Given the description of an element on the screen output the (x, y) to click on. 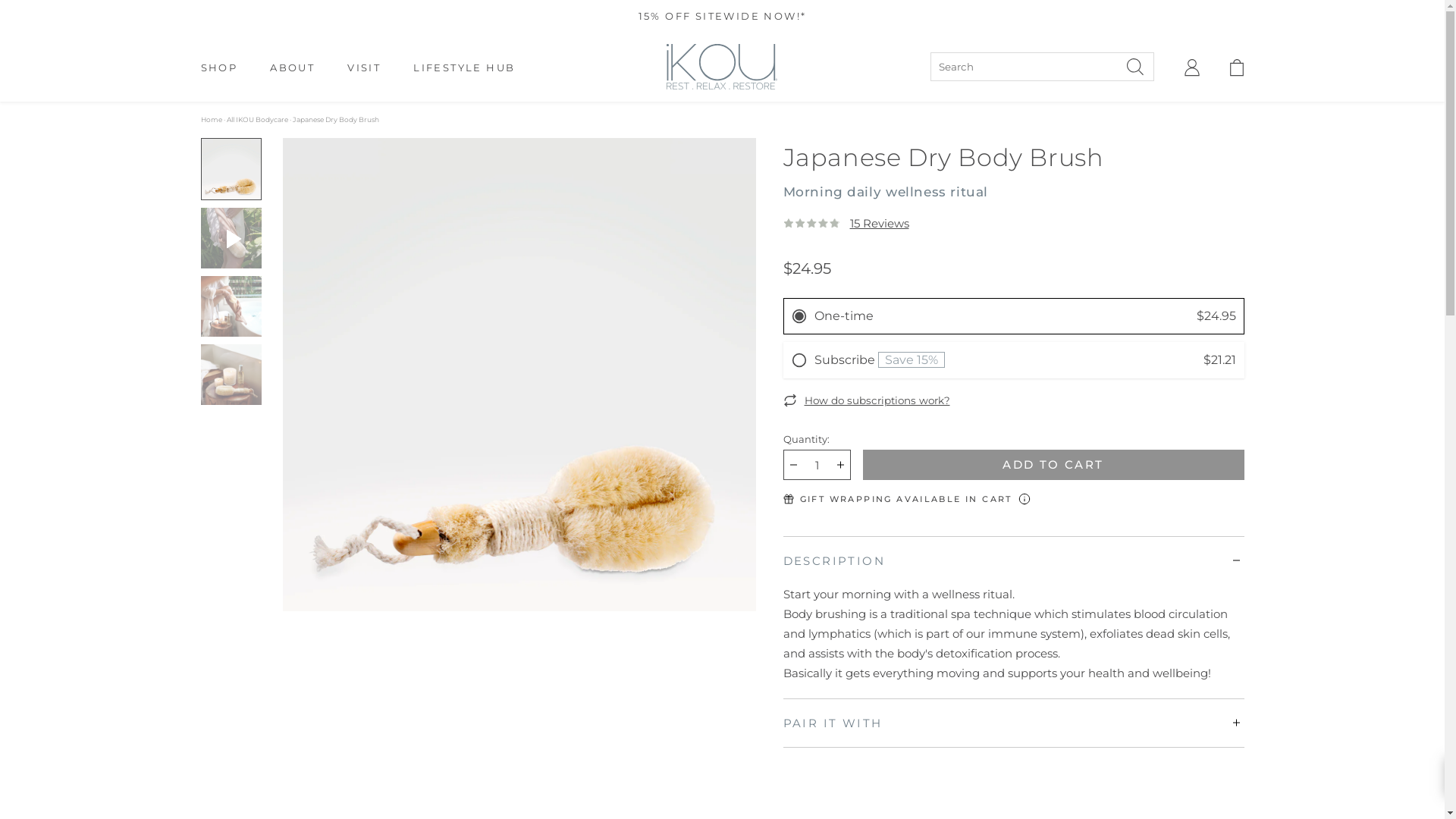
ABOUT Element type: text (291, 67)
ADD TO CART Element type: text (1053, 464)
VISIT Element type: text (363, 67)
All IKOU Bodycare Element type: text (256, 119)
DESCRIPTION Element type: text (1012, 560)
LIFESTYLE HUB Element type: text (463, 67)
PAIR IT WITH Element type: text (1012, 722)
15% OFF SITEWIDE NOW!* Element type: text (722, 16)
SHOP Element type: text (218, 67)
Home Element type: text (210, 119)
